Given the description of an element on the screen output the (x, y) to click on. 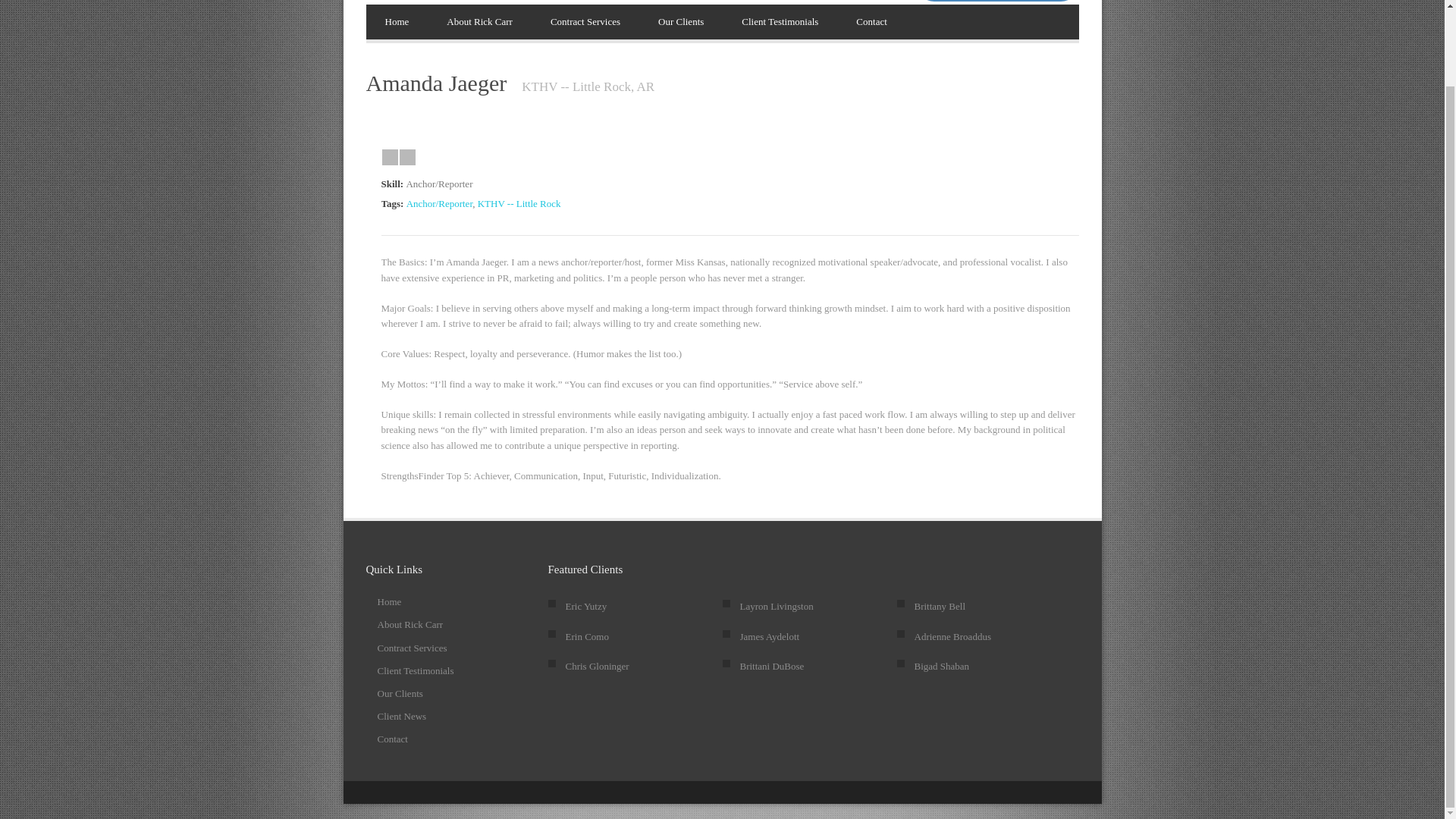
Our Clients (400, 693)
Layron Livingston (776, 605)
About Rick Carr (479, 21)
Contact (871, 21)
Home (389, 601)
James Aydelott (769, 636)
Our Clients (680, 21)
Contract Services (411, 647)
Eric Yutzy (586, 605)
Chris Gloninger (597, 665)
Home (396, 21)
Contact (392, 738)
Adrienne Broaddus (952, 636)
Client News (401, 715)
Client Testimonials (779, 21)
